Given the description of an element on the screen output the (x, y) to click on. 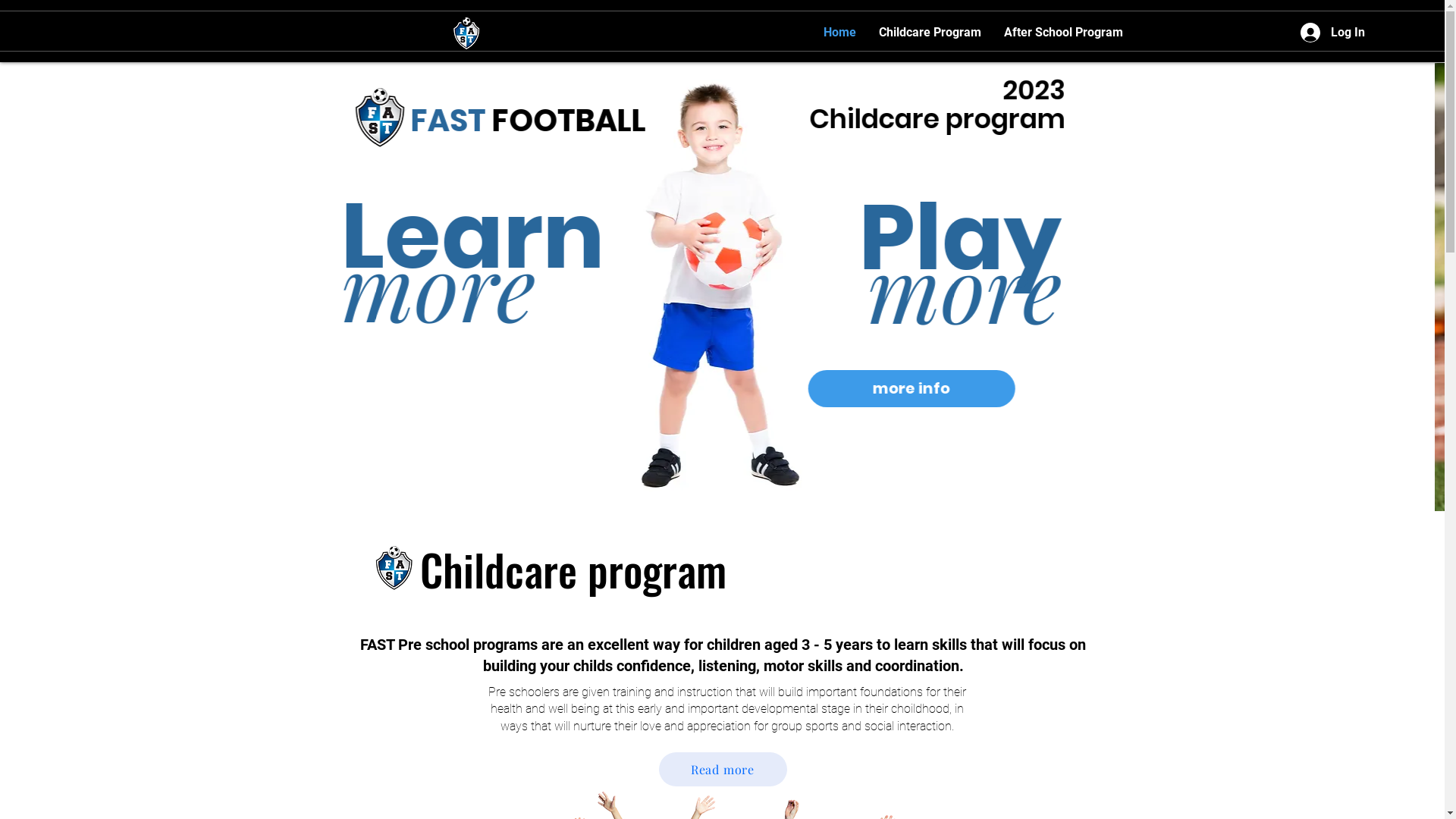
Childcare Program Element type: text (929, 31)
Read more Element type: text (722, 769)
Home Element type: text (838, 31)
Log In Element type: text (1331, 32)
After School Program Element type: text (1062, 31)
more info Element type: text (920, 388)
